Given the description of an element on the screen output the (x, y) to click on. 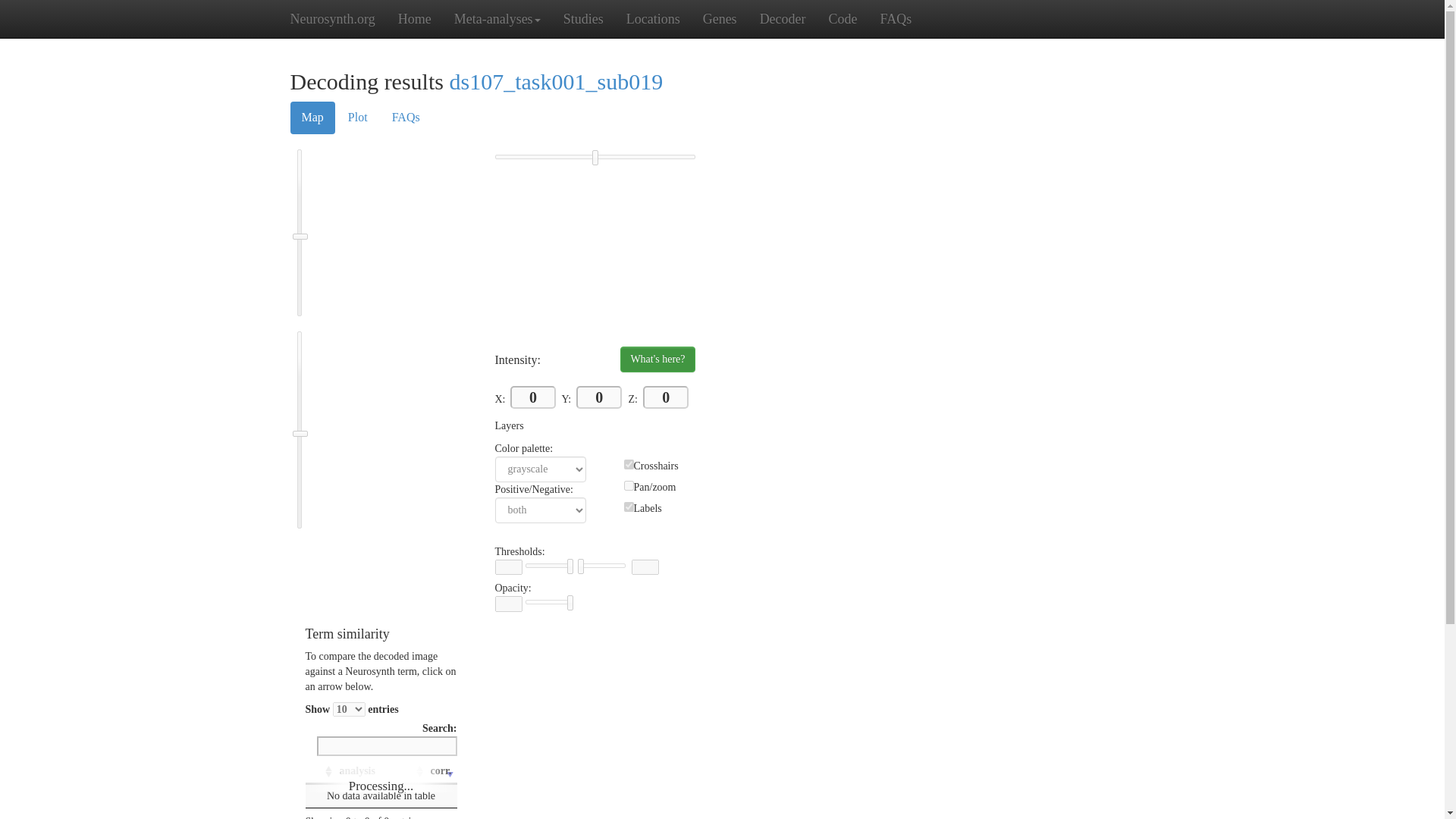
Code (842, 18)
Home (414, 18)
What's here? (657, 359)
Genes (719, 18)
on (628, 485)
0 (598, 396)
Locations (652, 18)
Decoder (782, 18)
FAQs (405, 117)
0 (665, 396)
Studies (582, 18)
on (628, 464)
FAQs (896, 18)
Plot (357, 117)
Meta-analyses (496, 18)
